Given the description of an element on the screen output the (x, y) to click on. 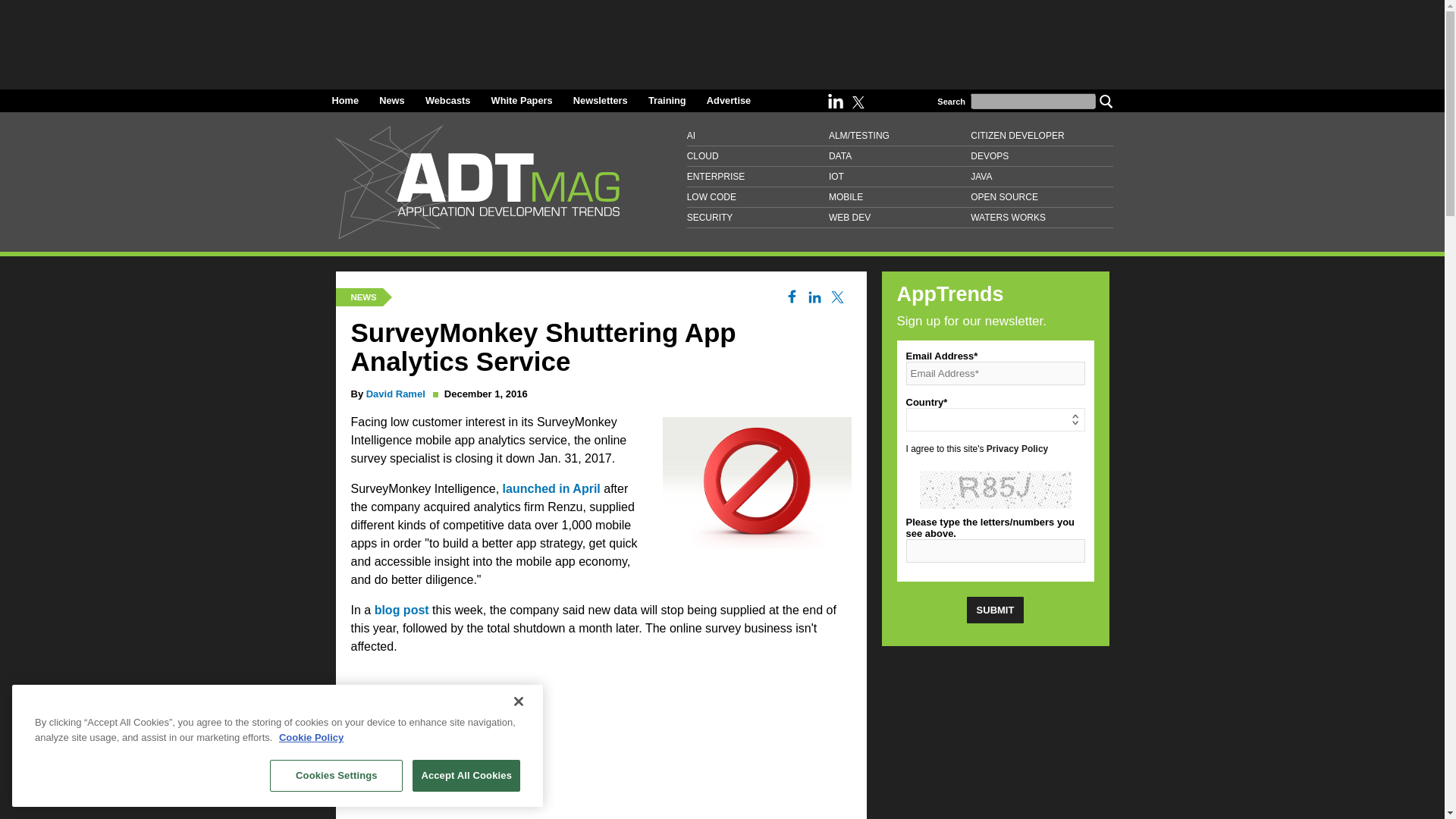
CITIZEN DEVELOPER (1041, 136)
Submit (995, 610)
DATA (899, 156)
DEVOPS (1041, 156)
Search (1106, 100)
Webcasts (447, 100)
MOBILE (899, 197)
SECURITY (757, 218)
JAVA (1041, 177)
David Ramel (395, 393)
ENTERPRISE (757, 177)
WEB DEV (899, 218)
White Papers (522, 100)
IOT (899, 177)
3rd party ad content (994, 739)
